Given the description of an element on the screen output the (x, y) to click on. 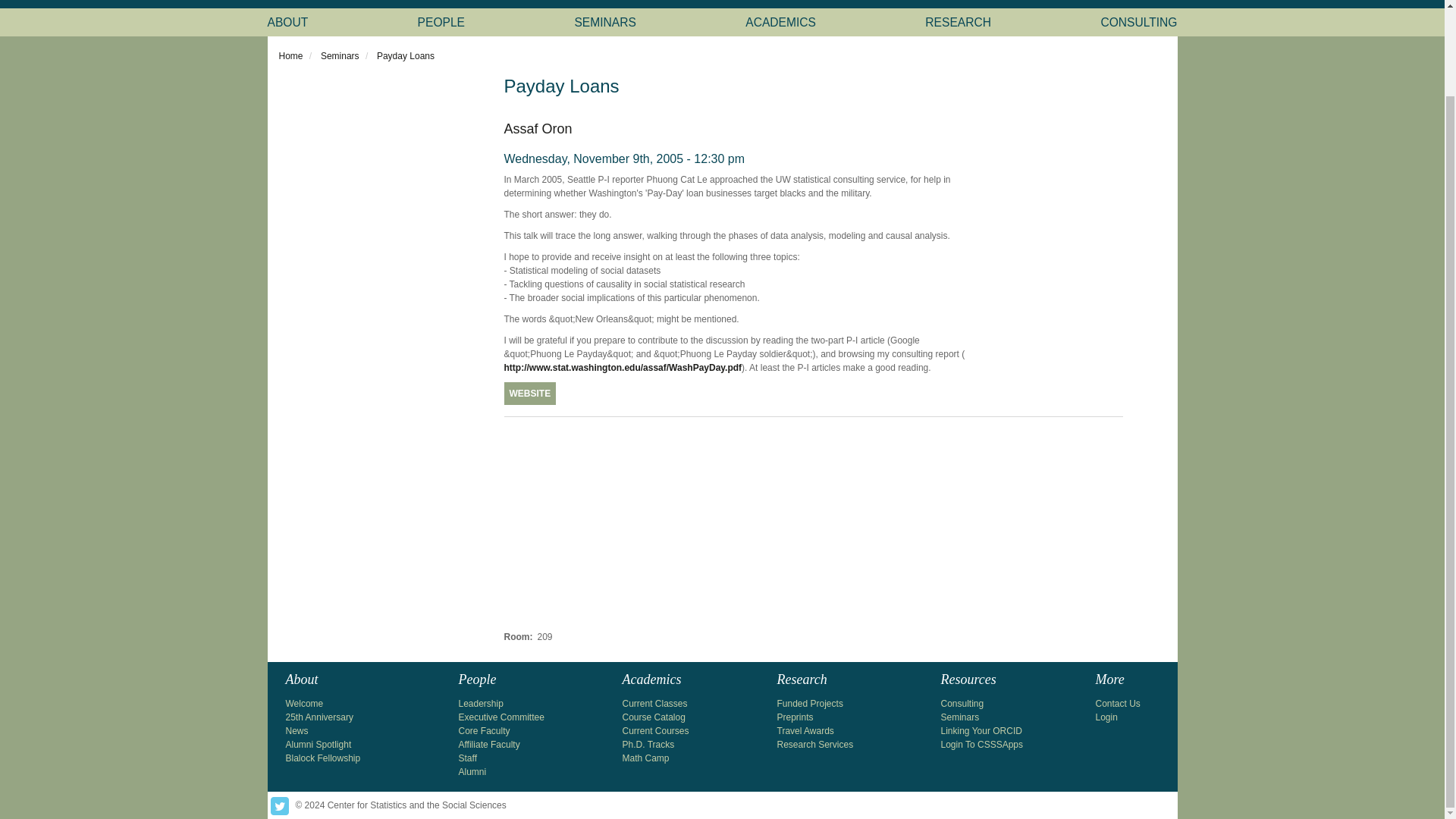
ACADEMICS (780, 22)
Staff (467, 757)
Alumni Spotlight (317, 744)
Research Services (814, 744)
Travel Awards (804, 730)
Preprints (794, 716)
ABOUT (286, 22)
Payday Loans (405, 55)
Home (290, 55)
Affiliate Faculty (488, 744)
